Given the description of an element on the screen output the (x, y) to click on. 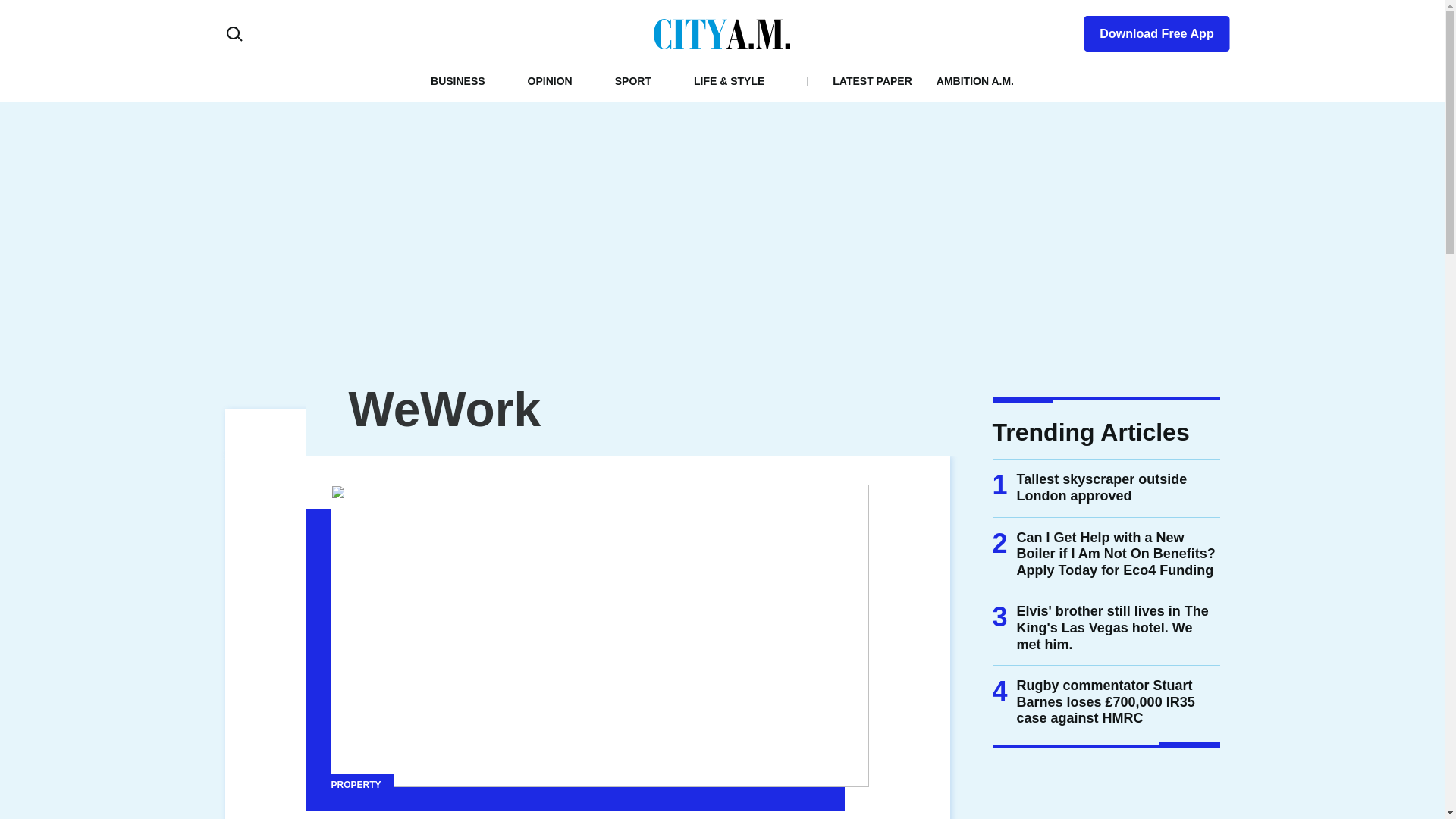
BUSINESS (457, 80)
SPORT (632, 80)
OPINION (549, 80)
CityAM (721, 33)
Download Free App (1146, 30)
